Given the description of an element on the screen output the (x, y) to click on. 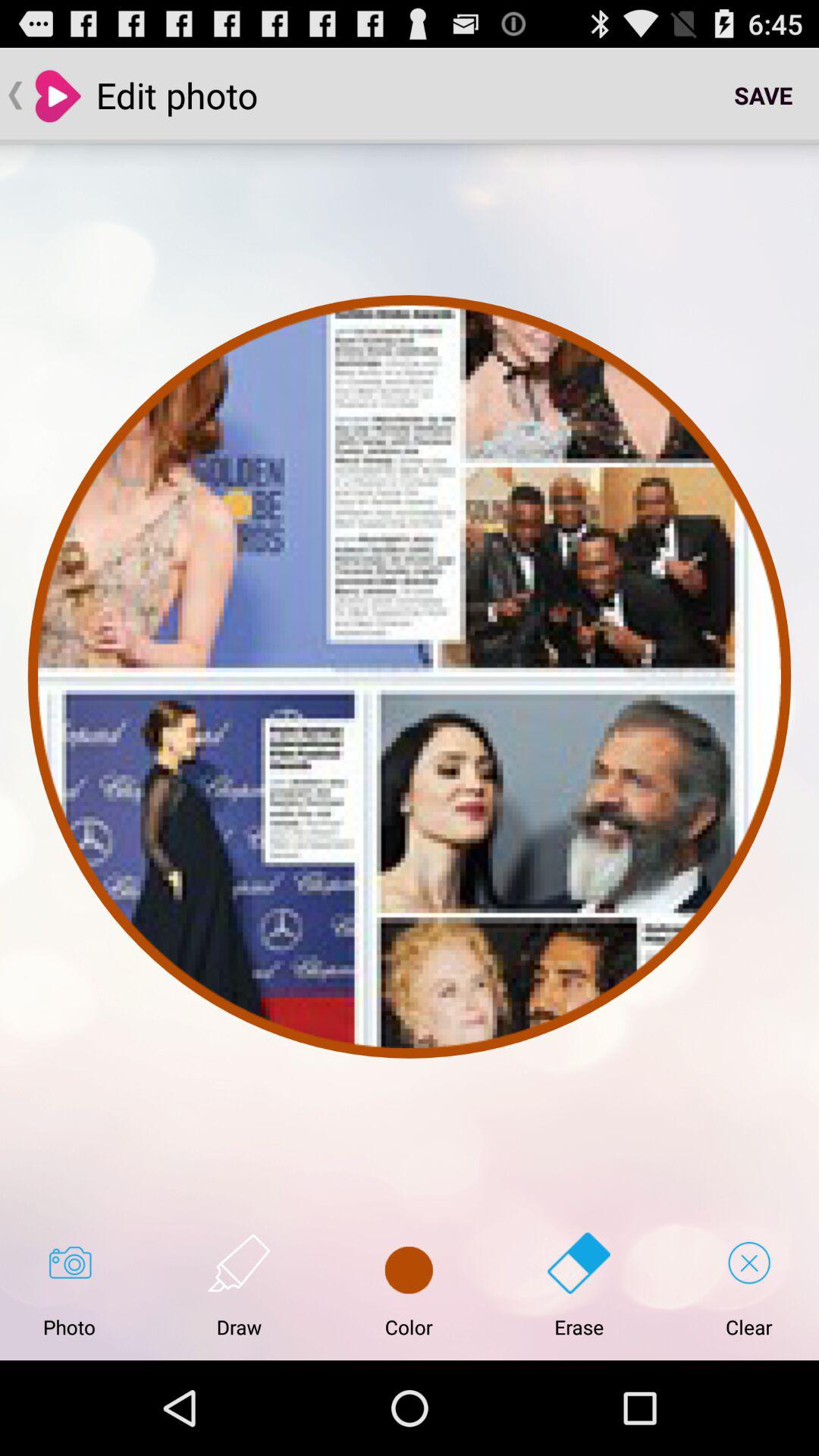
launch icon to the right of the erase icon (749, 1285)
